Given the description of an element on the screen output the (x, y) to click on. 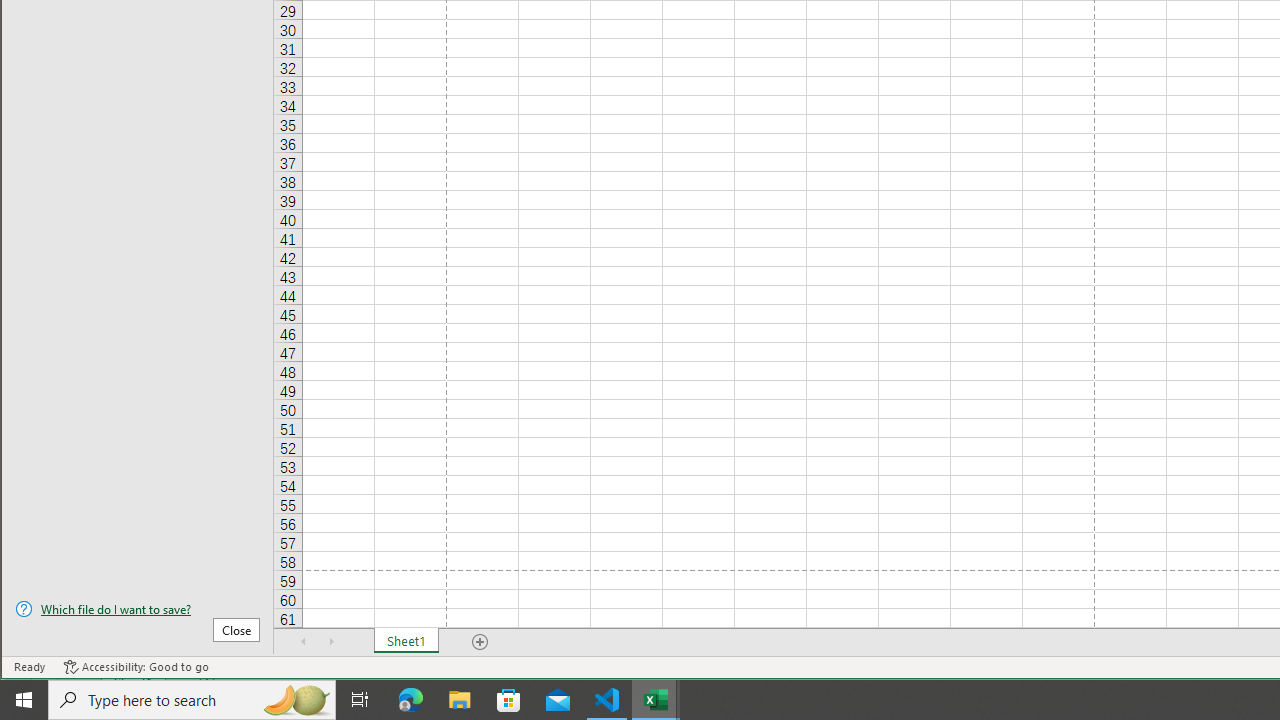
Search highlights icon opens search home window (295, 699)
Which file do I want to save? (137, 609)
Start (24, 699)
File Explorer (460, 699)
Visual Studio Code - 1 running window (607, 699)
Excel - 2 running windows (656, 699)
Microsoft Store (509, 699)
Task View (359, 699)
Type here to search (191, 699)
Accessibility Checker Accessibility: Good to go (136, 667)
